Given the description of an element on the screen output the (x, y) to click on. 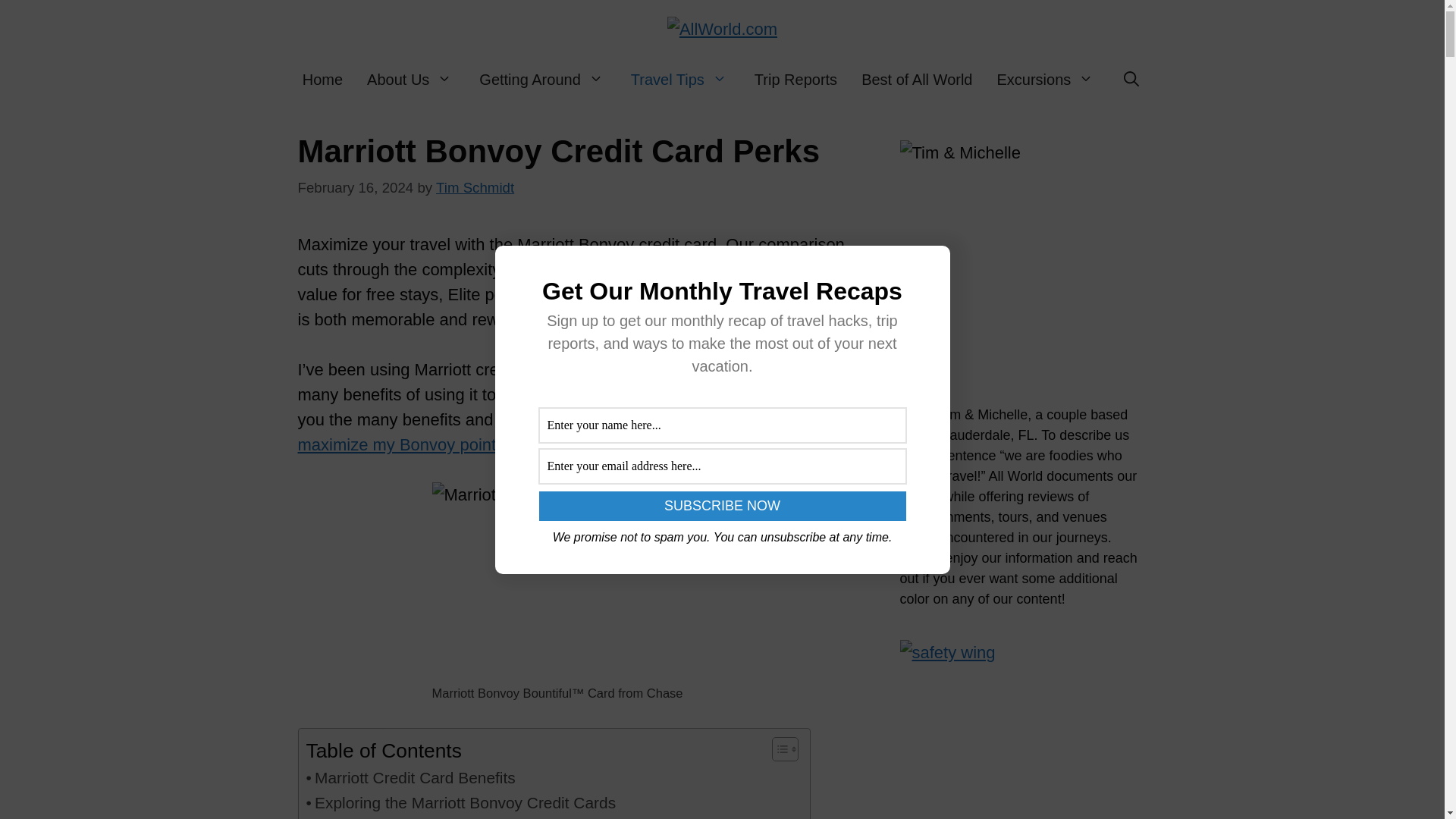
Exploring the Marriott Bonvoy Credit Cards (460, 802)
Getting Around (542, 79)
The Essential Marriott Bonvoy Card (446, 817)
View all posts by Tim Schmidt (474, 187)
About Us (411, 79)
Home (322, 79)
Travel Tips (680, 79)
Marriott Credit Card Benefits (410, 777)
Exploring the Marriott Bonvoy Credit Cards (460, 802)
Excursions (1046, 79)
Subscribe Now (721, 505)
Tim Schmidt (474, 187)
Marriott Credit Card Benefits (410, 777)
The Essential Marriott Bonvoy Card (446, 817)
Best of All World (916, 79)
